Given the description of an element on the screen output the (x, y) to click on. 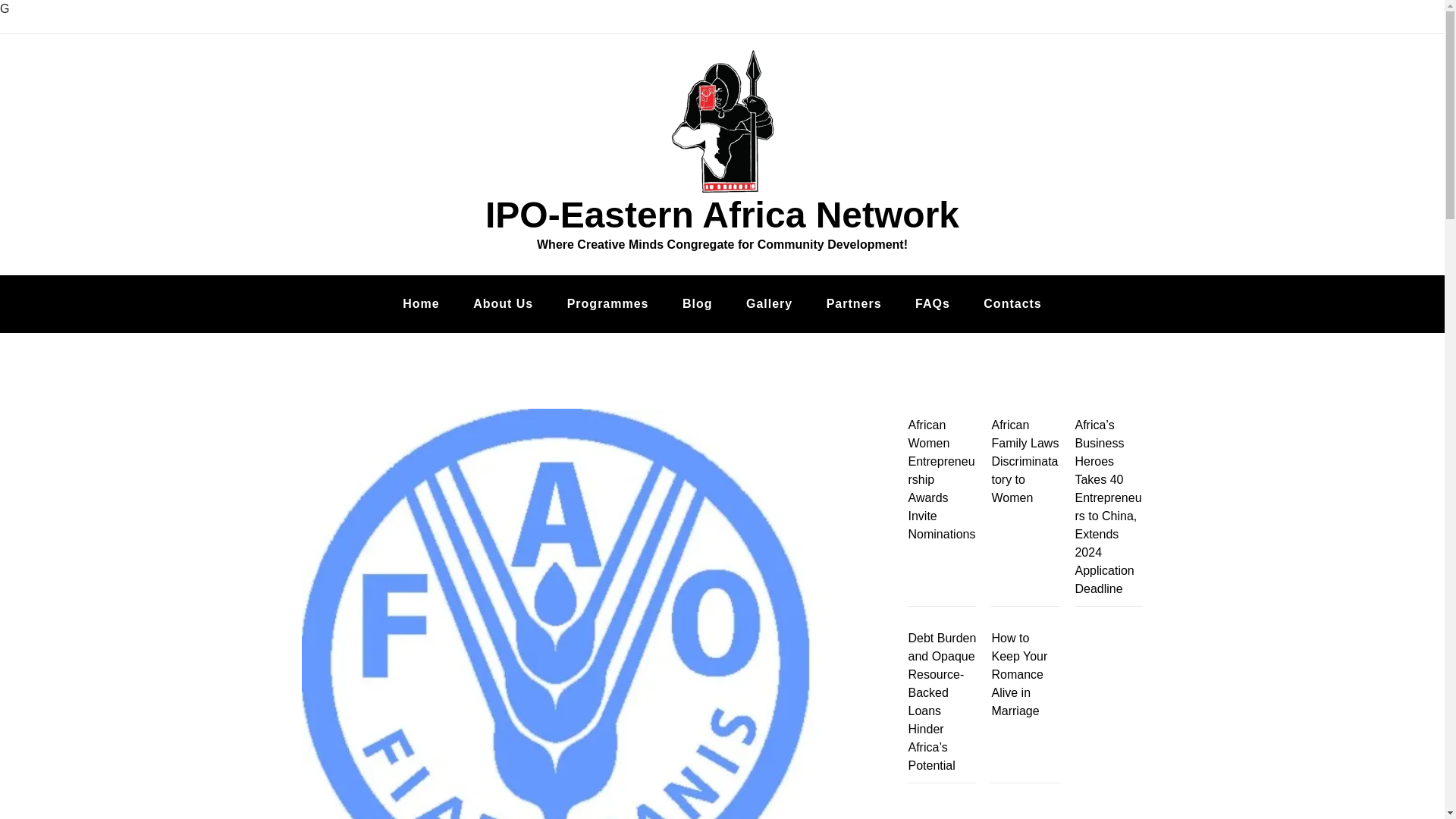
IPO-Eastern Africa Network (721, 214)
IPO-Eastern Africa Network (721, 214)
Gallery (769, 303)
FAQs (932, 303)
Home (420, 303)
Contacts (1012, 303)
Blog (697, 303)
Programmes (607, 303)
Partners (853, 303)
About Us (503, 303)
